Given the description of an element on the screen output the (x, y) to click on. 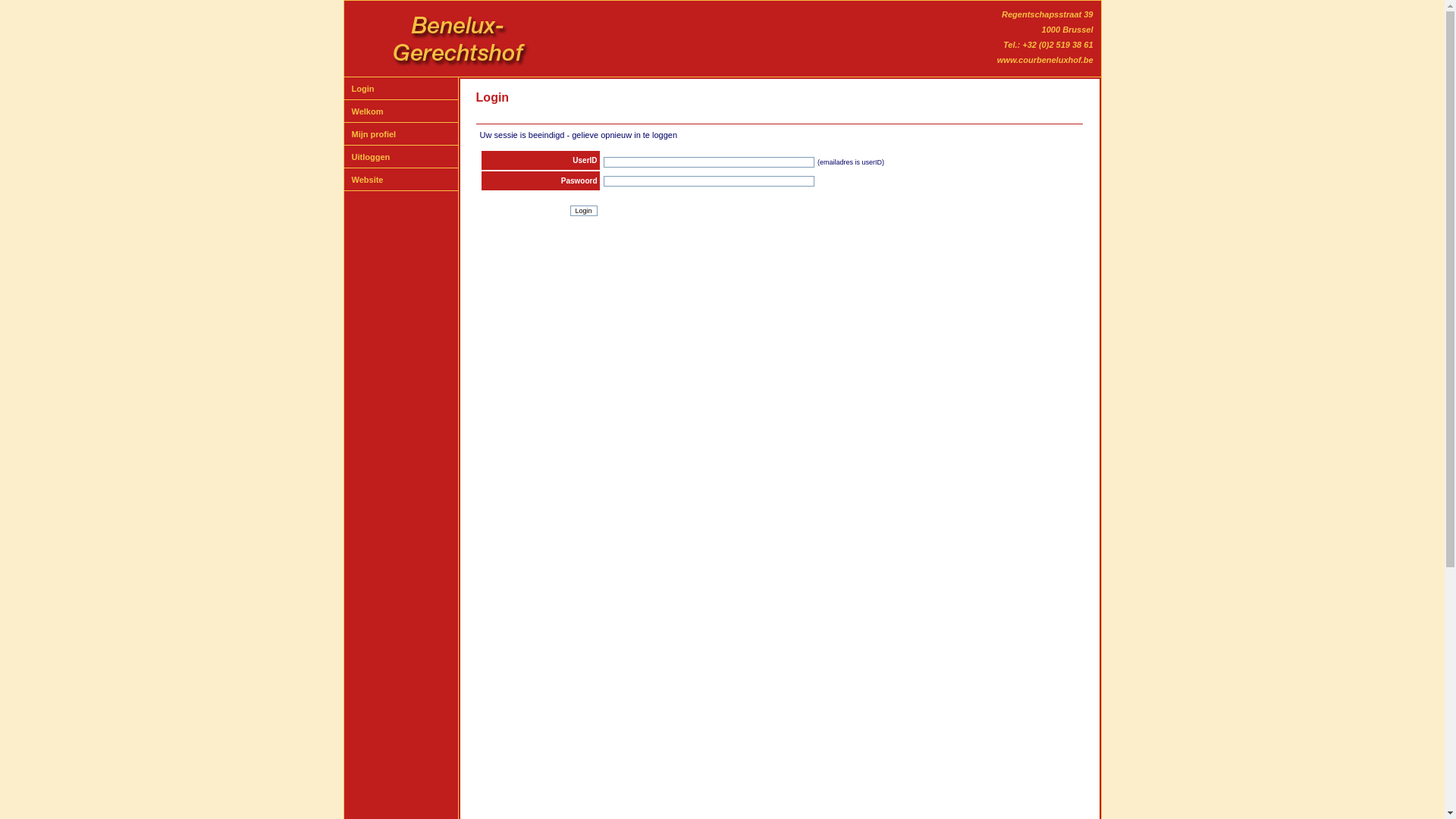
Login Element type: text (583, 210)
Website Element type: text (367, 178)
www.courbeneluxhof.be Element type: text (1045, 59)
Login Element type: text (362, 87)
Welkom Element type: text (367, 110)
Mijn profiel Element type: text (373, 133)
Uitloggen Element type: text (370, 155)
